Given the description of an element on the screen output the (x, y) to click on. 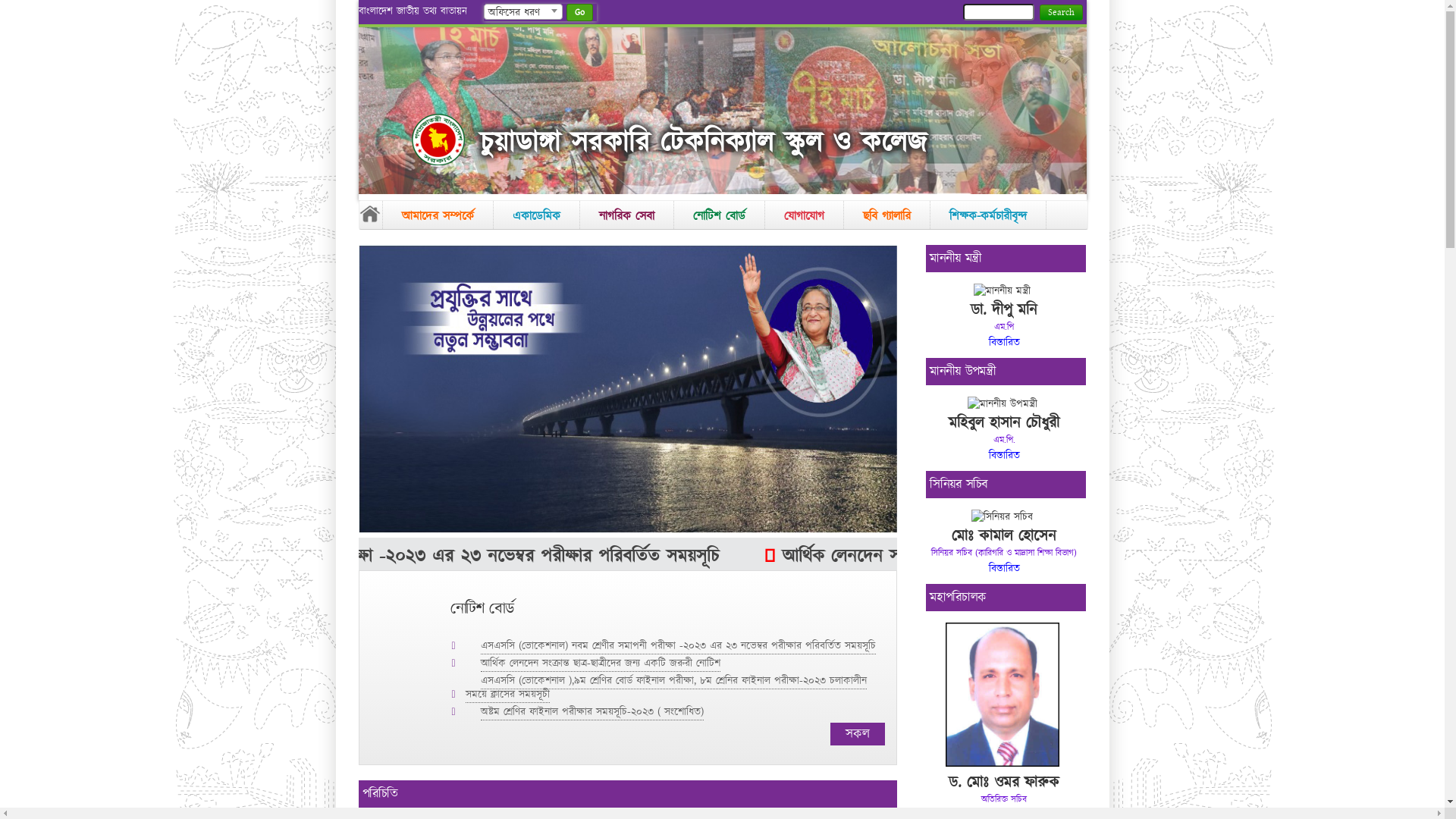
Search Element type: text (1060, 12)

						
					 Element type: hover (437, 139)

						
					 Element type: hover (626, 529)
Go Element type: text (578, 12)
